Given the description of an element on the screen output the (x, y) to click on. 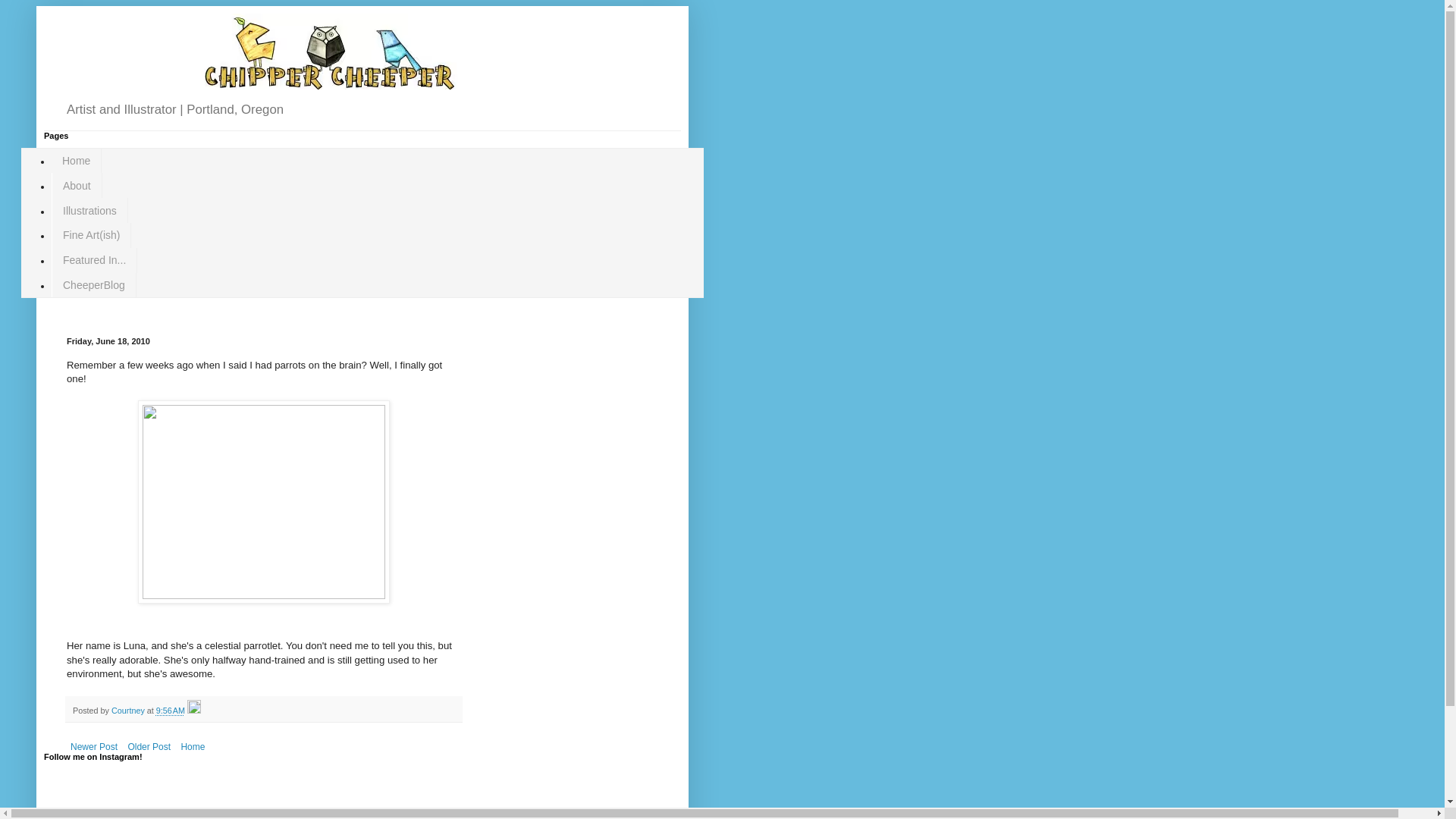
Newer Post (93, 746)
Illustrations (89, 210)
CheeperBlog (93, 285)
Older Post (148, 746)
Courtney (129, 709)
Home (75, 160)
author profile (129, 709)
Newer Post (93, 746)
Edit Post (193, 709)
About (75, 185)
